Given the description of an element on the screen output the (x, y) to click on. 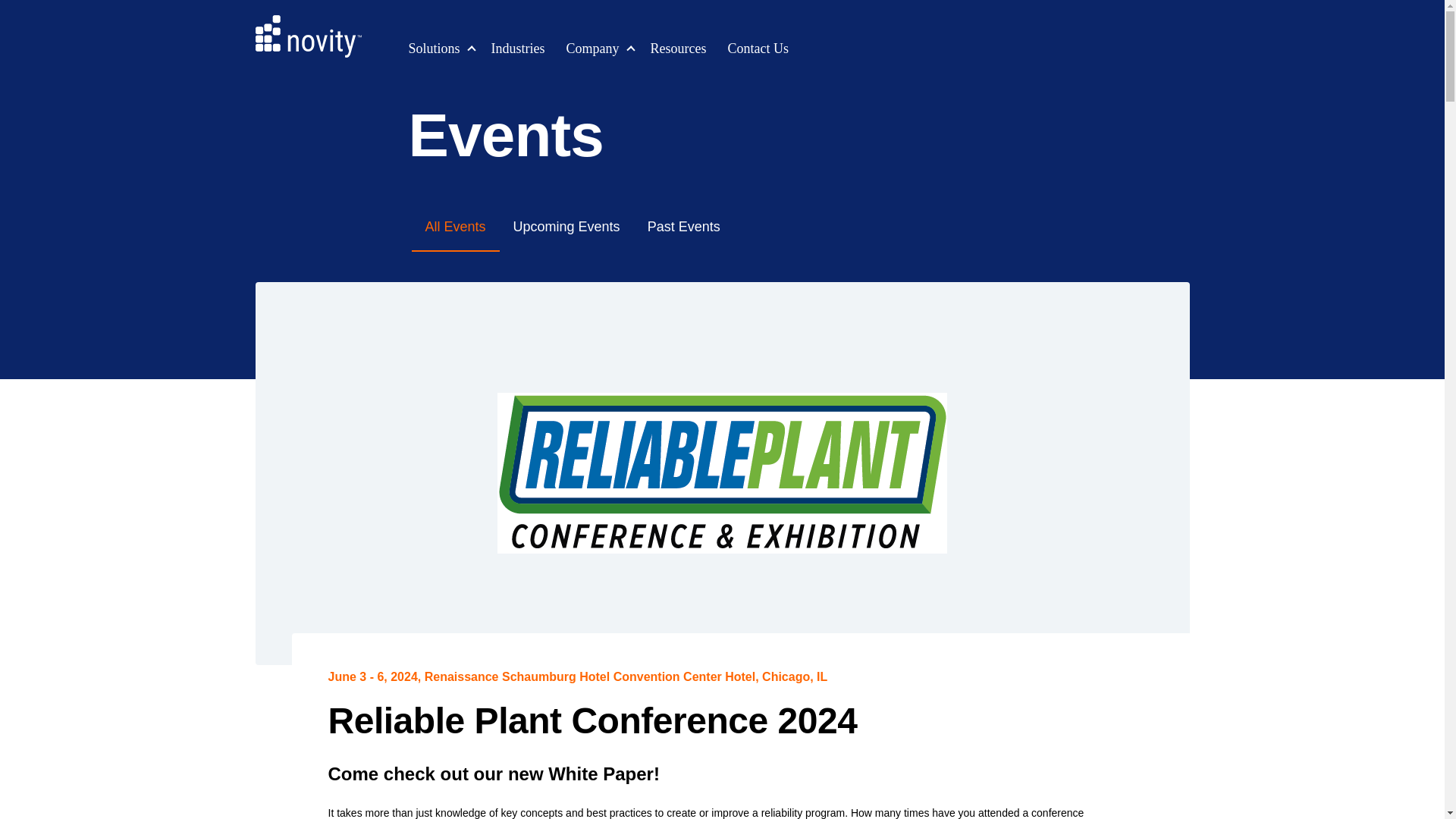
Solutions (433, 48)
Company (593, 48)
Resources (678, 48)
Industries (518, 48)
Novity (307, 36)
Contact Us (758, 48)
